Given the description of an element on the screen output the (x, y) to click on. 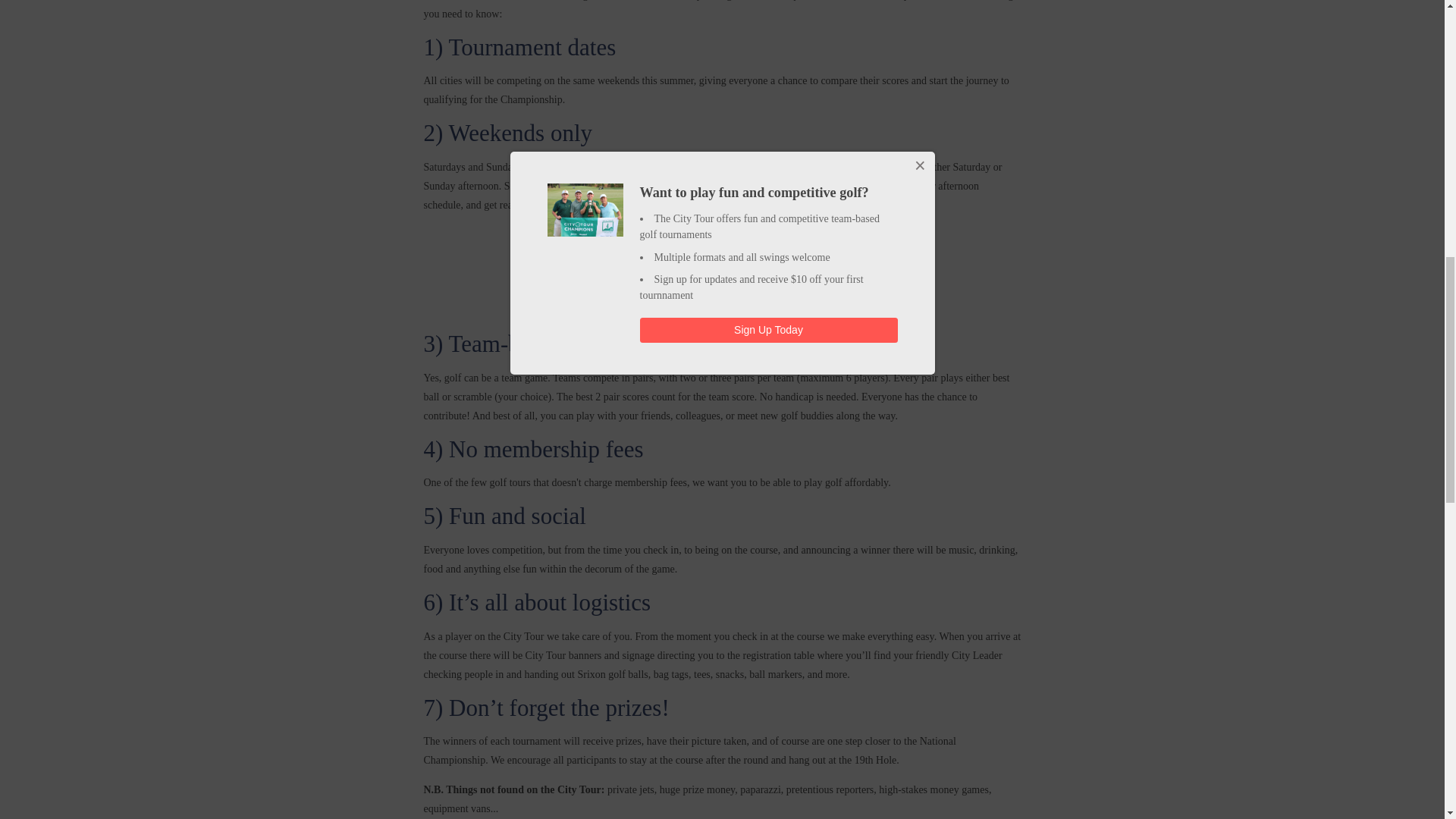
View Schedule Here (721, 234)
View Schedule Here (721, 292)
View Schedule Here (721, 292)
